Given the description of an element on the screen output the (x, y) to click on. 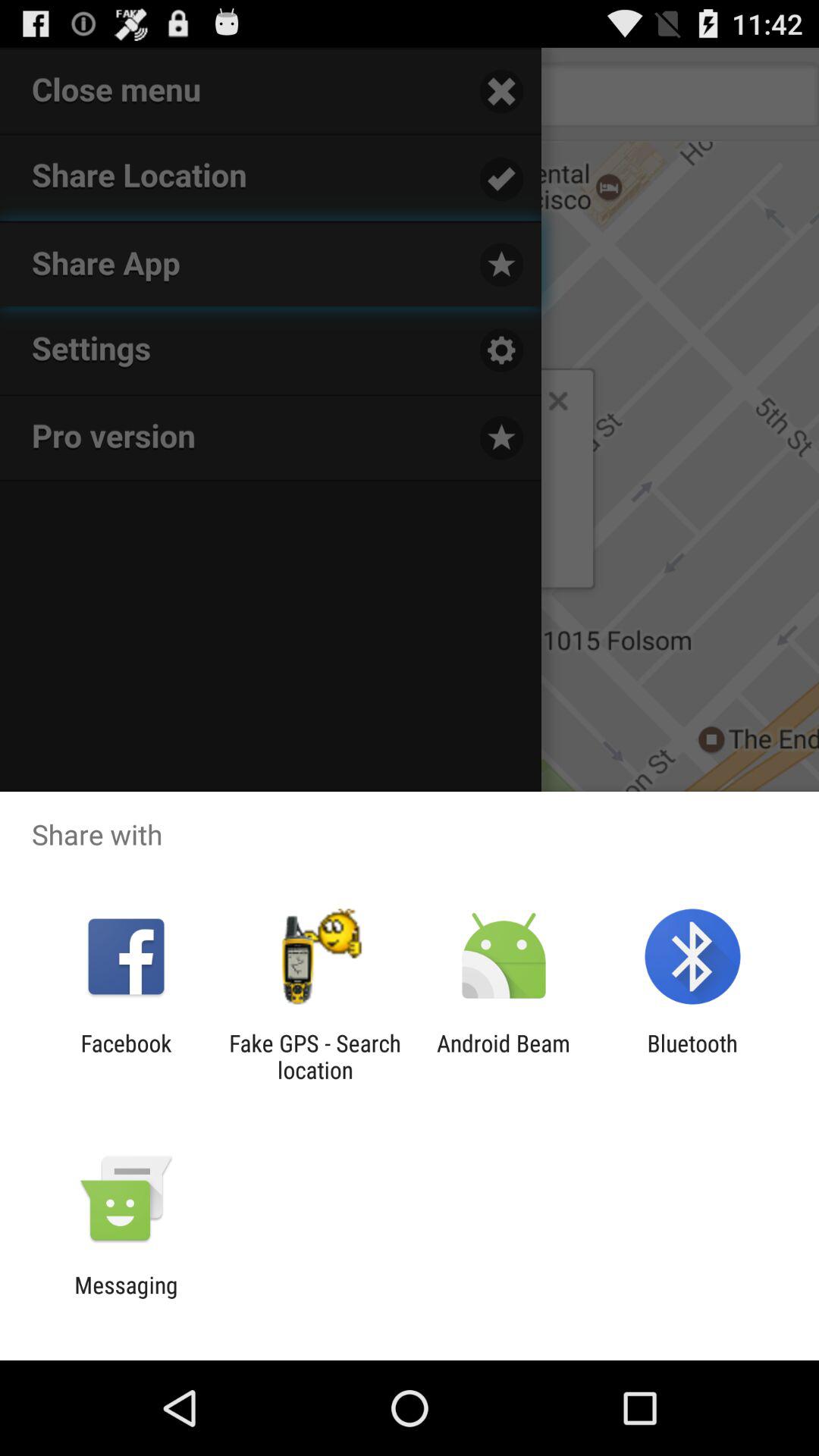
jump to the messaging (126, 1298)
